Given the description of an element on the screen output the (x, y) to click on. 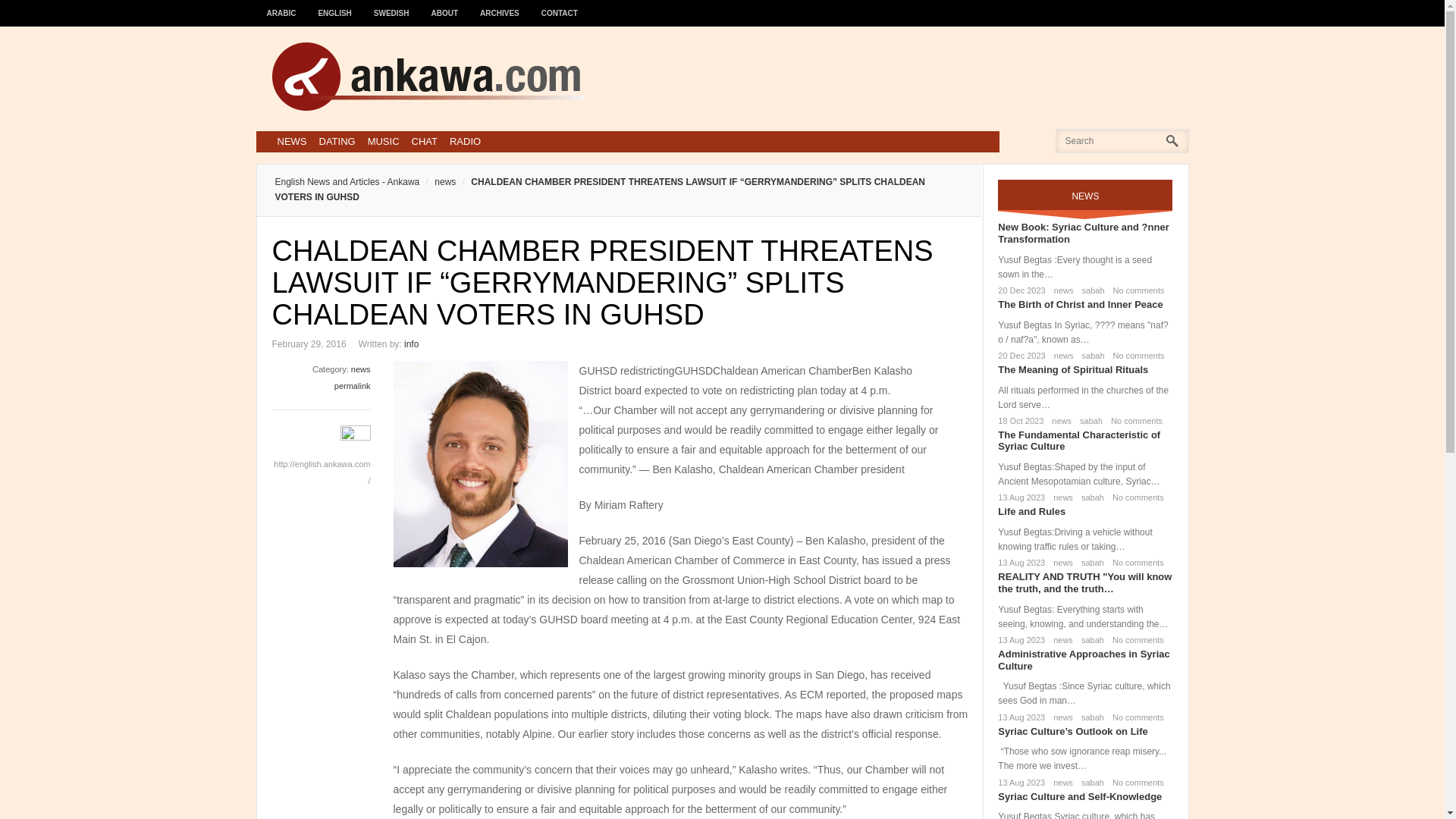
info (411, 344)
NEWS (291, 141)
sabah (1088, 420)
New Book: Syriac Culture and ?nner Transformation (1083, 232)
No comments (1135, 289)
news (1061, 289)
ARCHIVES (499, 5)
The Birth of Christ and Inner Peace (1079, 304)
No comments (1133, 420)
news (1059, 497)
RADIO (465, 141)
No comments (1134, 497)
sabah (1089, 497)
Administrative Approaches in Syriac Culture (1083, 659)
